Given the description of an element on the screen output the (x, y) to click on. 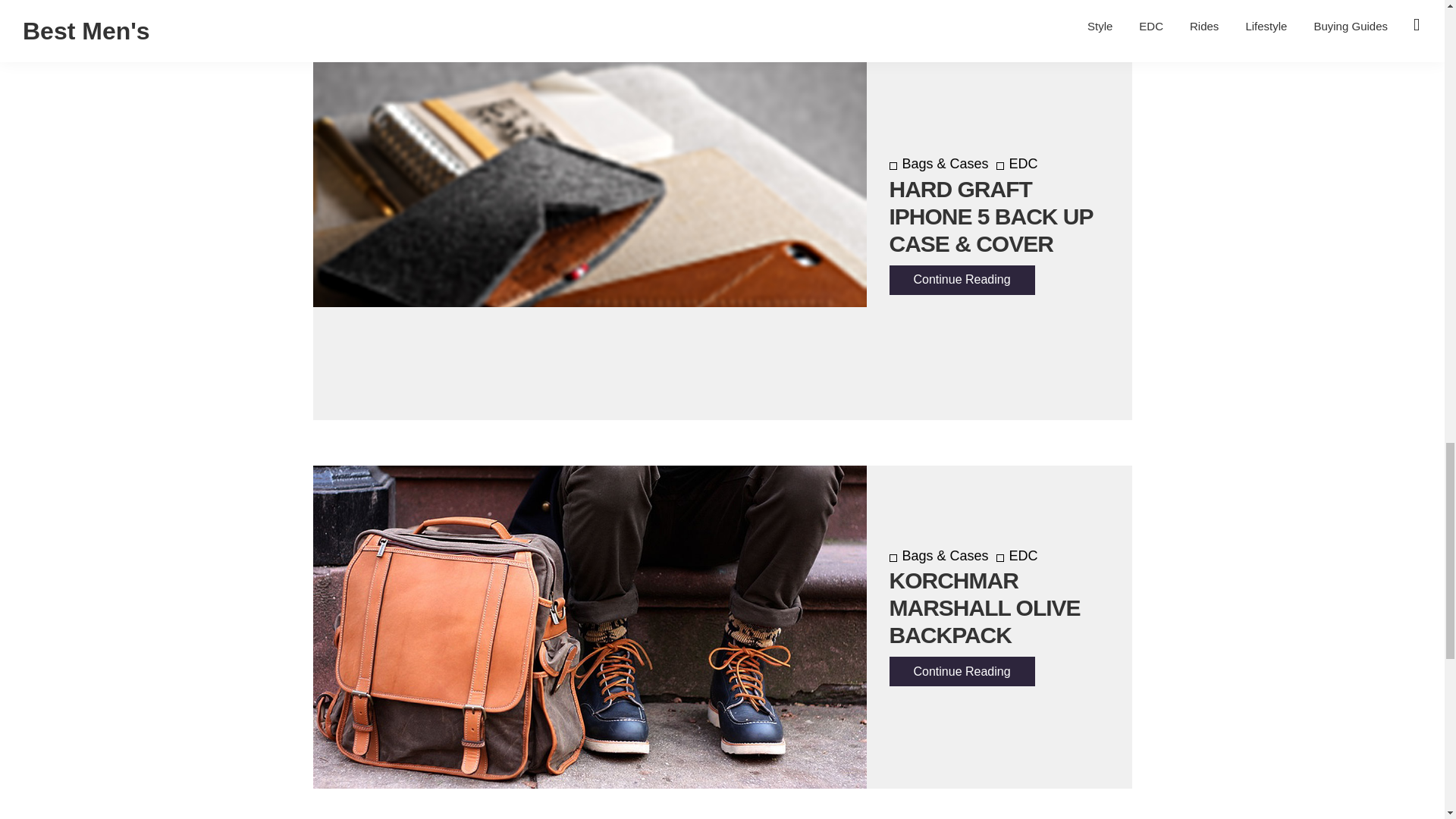
Continue Reading (960, 671)
EDC (1016, 555)
EDC (1016, 163)
Continue Reading (960, 279)
KORCHMAR MARSHALL OLIVE BACKPACK (984, 607)
